Given the description of an element on the screen output the (x, y) to click on. 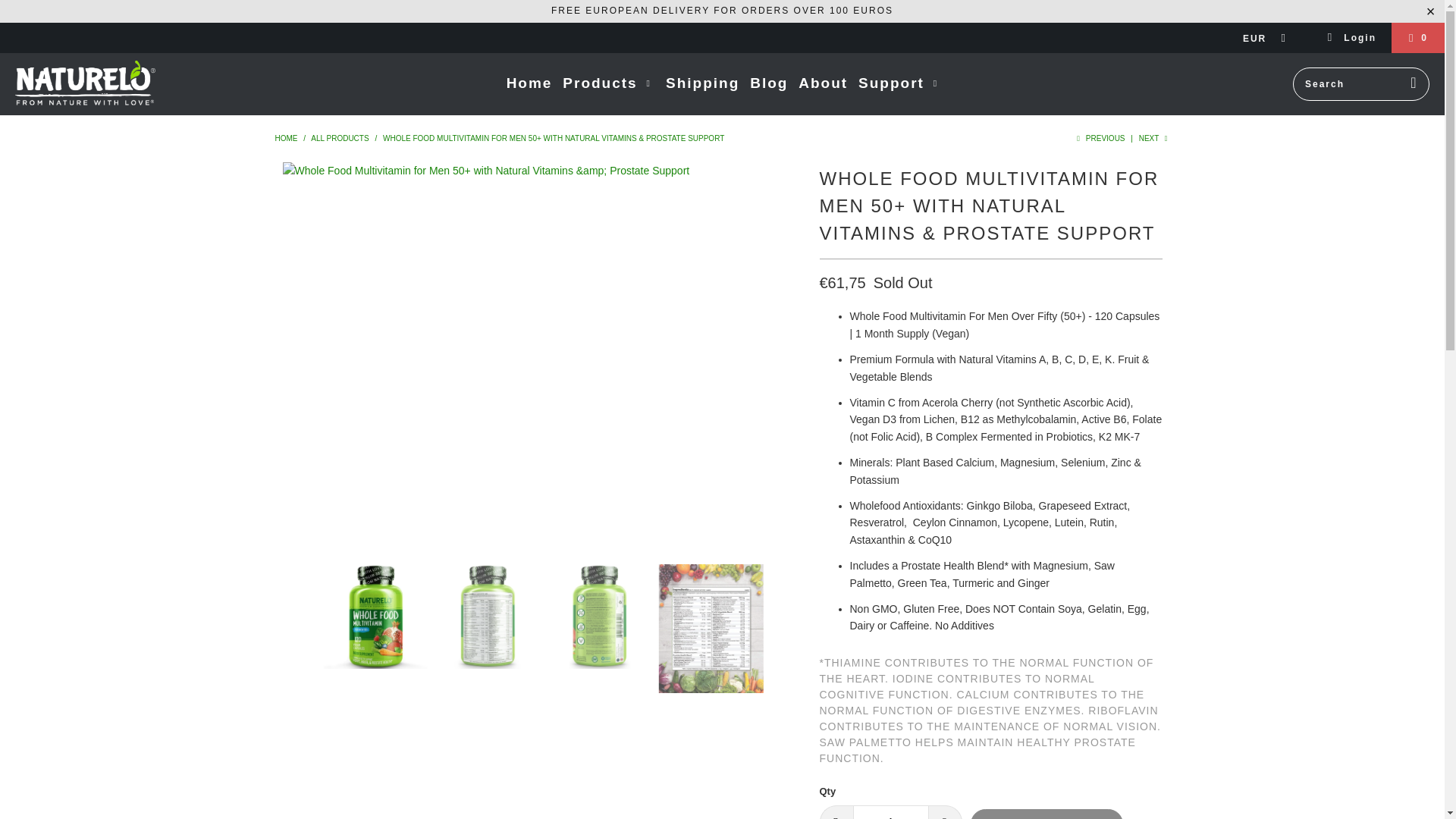
1 (889, 812)
Next (1154, 138)
Previous (1099, 138)
NATURELO (84, 83)
My Account  (1351, 37)
NATURELO (286, 138)
All Products (339, 138)
